Given the description of an element on the screen output the (x, y) to click on. 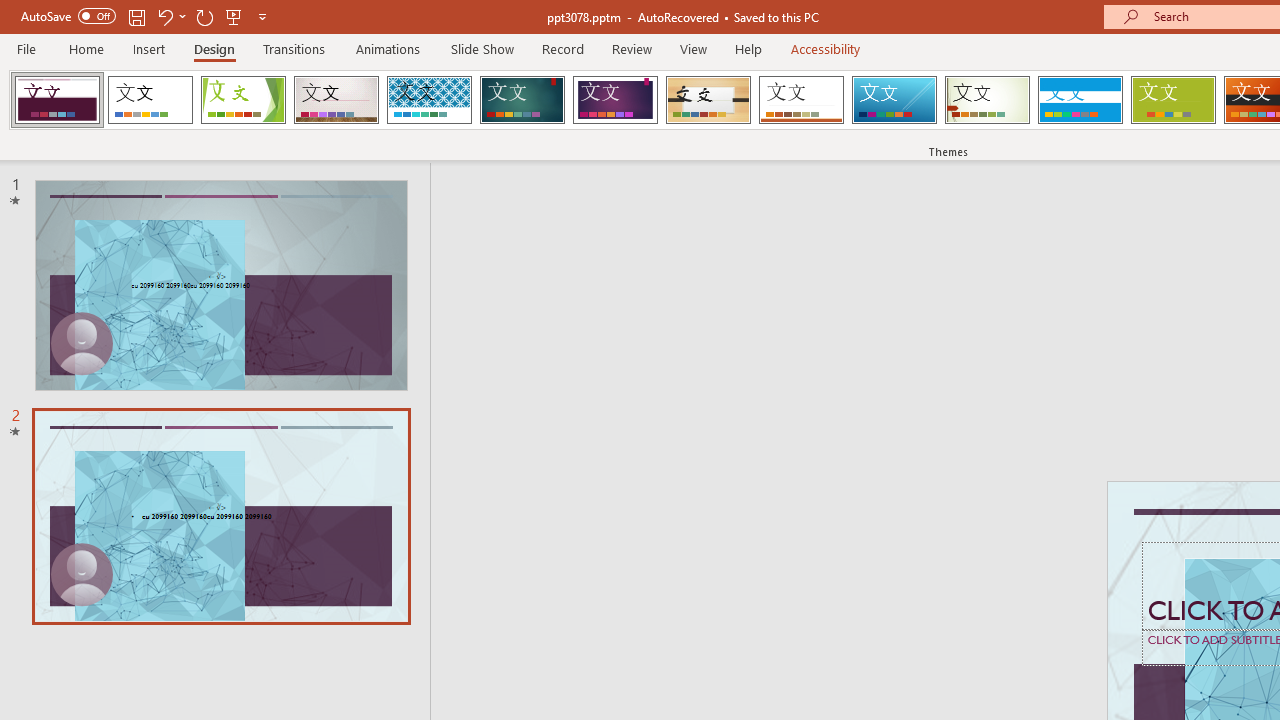
Integral (429, 100)
Retrospect (801, 100)
Wisp (987, 100)
Gallery (336, 100)
Organic (708, 100)
Ion (522, 100)
